Given the description of an element on the screen output the (x, y) to click on. 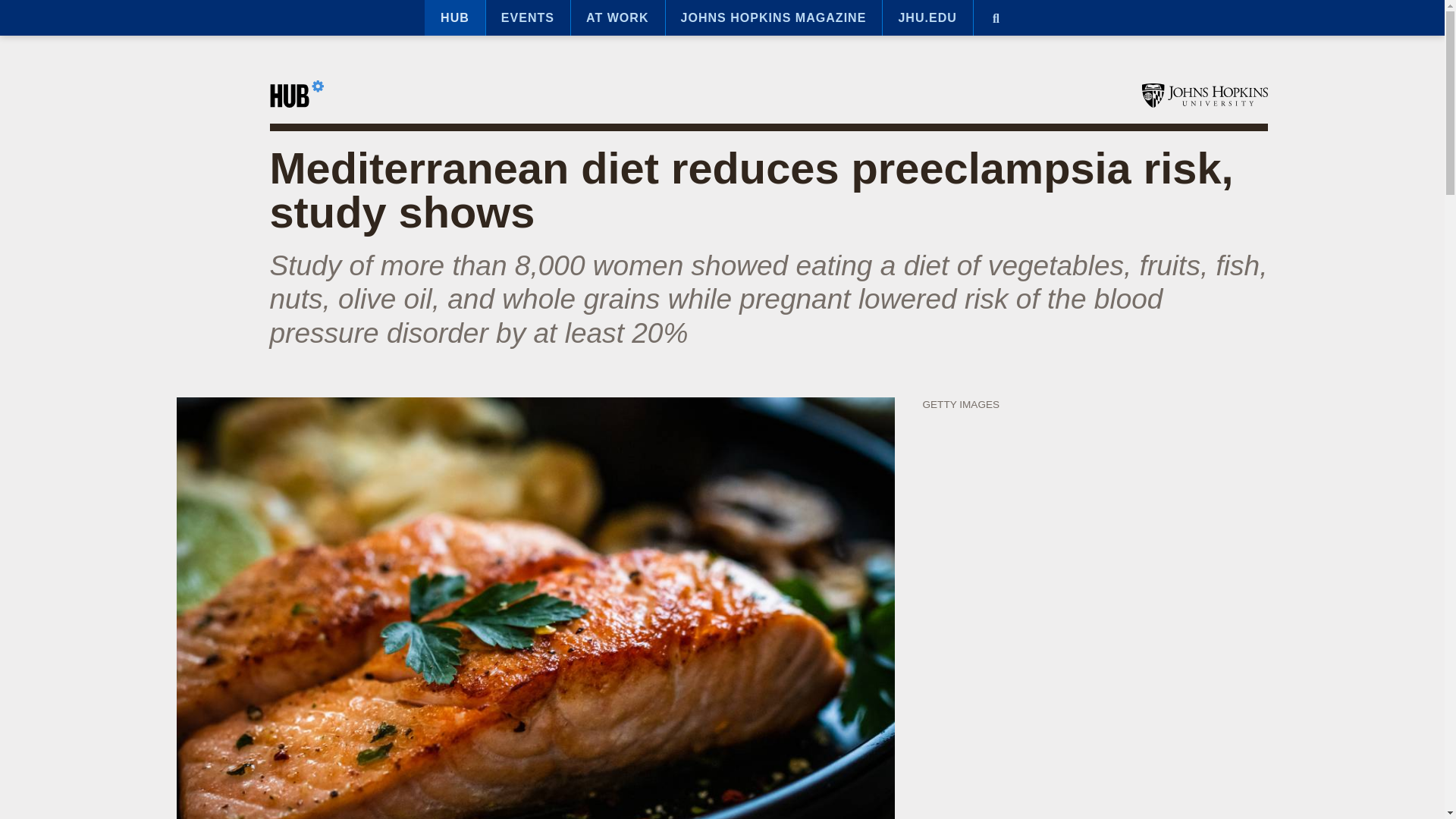
Johns Hopkins University (1204, 95)
JOHNS HOPKINS MAGAZINE (773, 18)
HUB (454, 18)
JHU.EDU (927, 18)
EVENTS (527, 18)
AT WORK (616, 18)
